Given the description of an element on the screen output the (x, y) to click on. 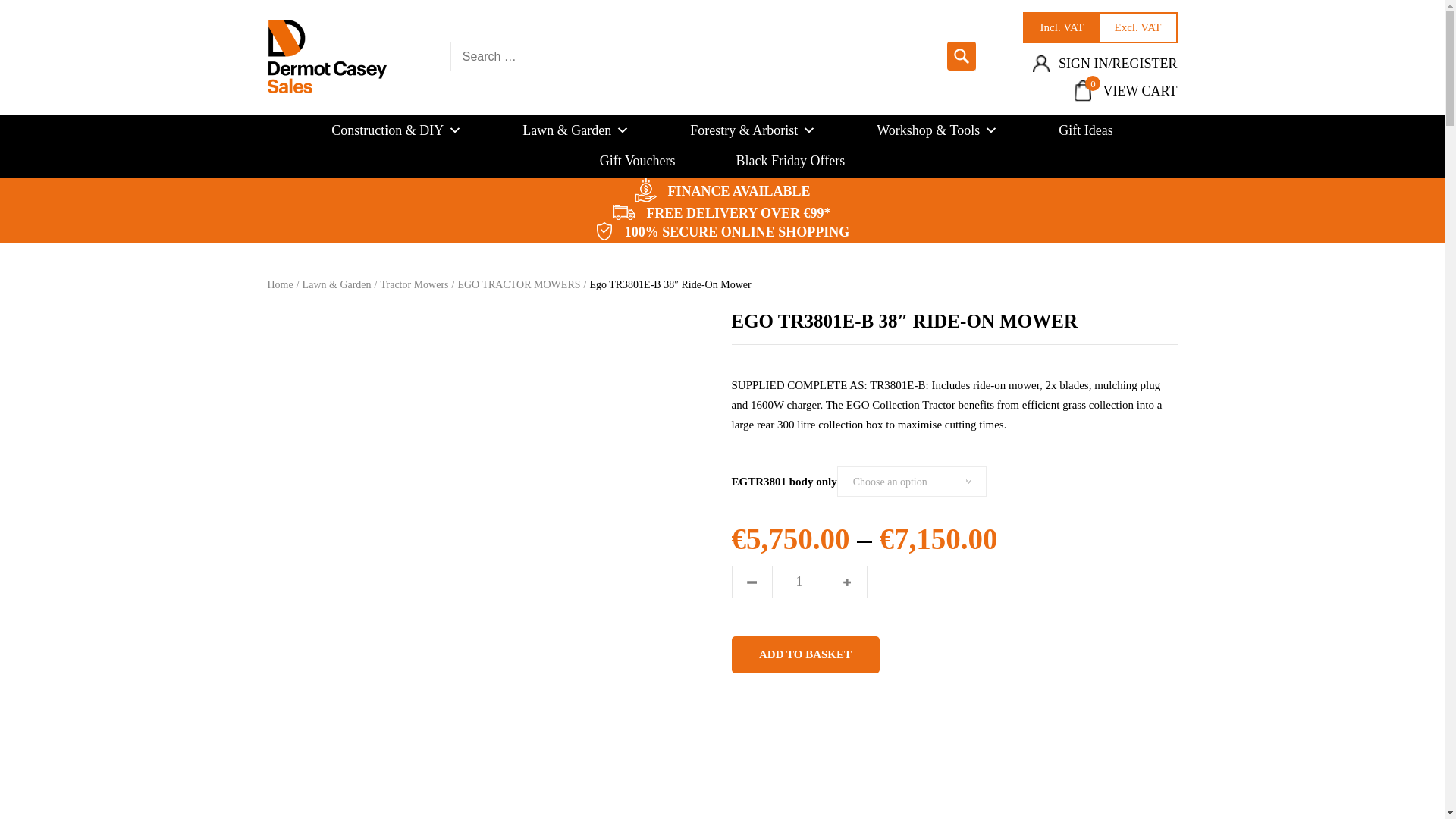
Search (961, 55)
Qty (799, 581)
Search (961, 55)
onsale (1125, 90)
Finance Available (1099, 27)
Free Nationwide Delivery (603, 230)
dermotcasey (645, 190)
- (623, 212)
